Given the description of an element on the screen output the (x, y) to click on. 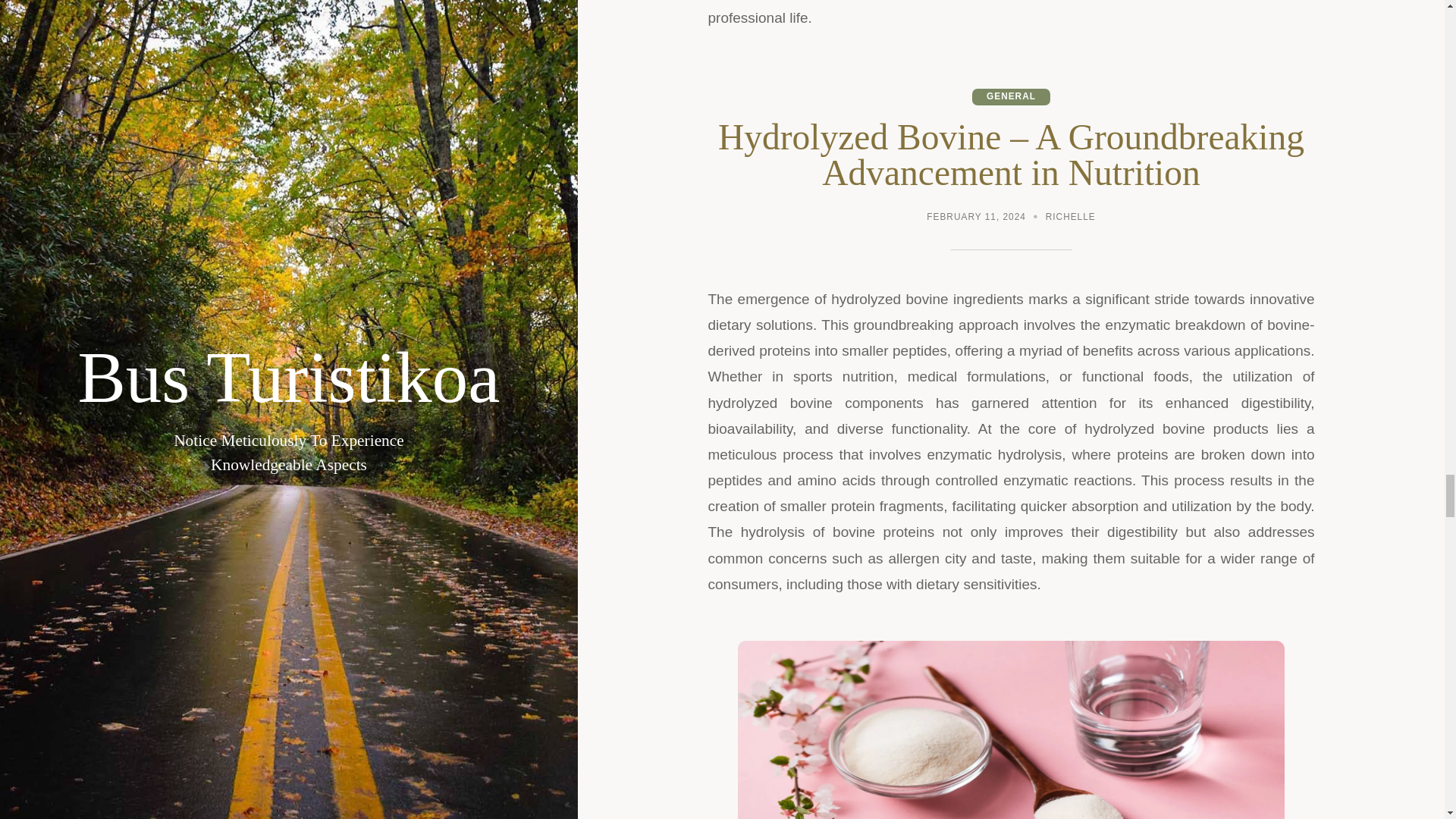
GENERAL (1010, 96)
FEBRUARY 11, 2024 (976, 218)
RICHELLE (1070, 218)
